Given the description of an element on the screen output the (x, y) to click on. 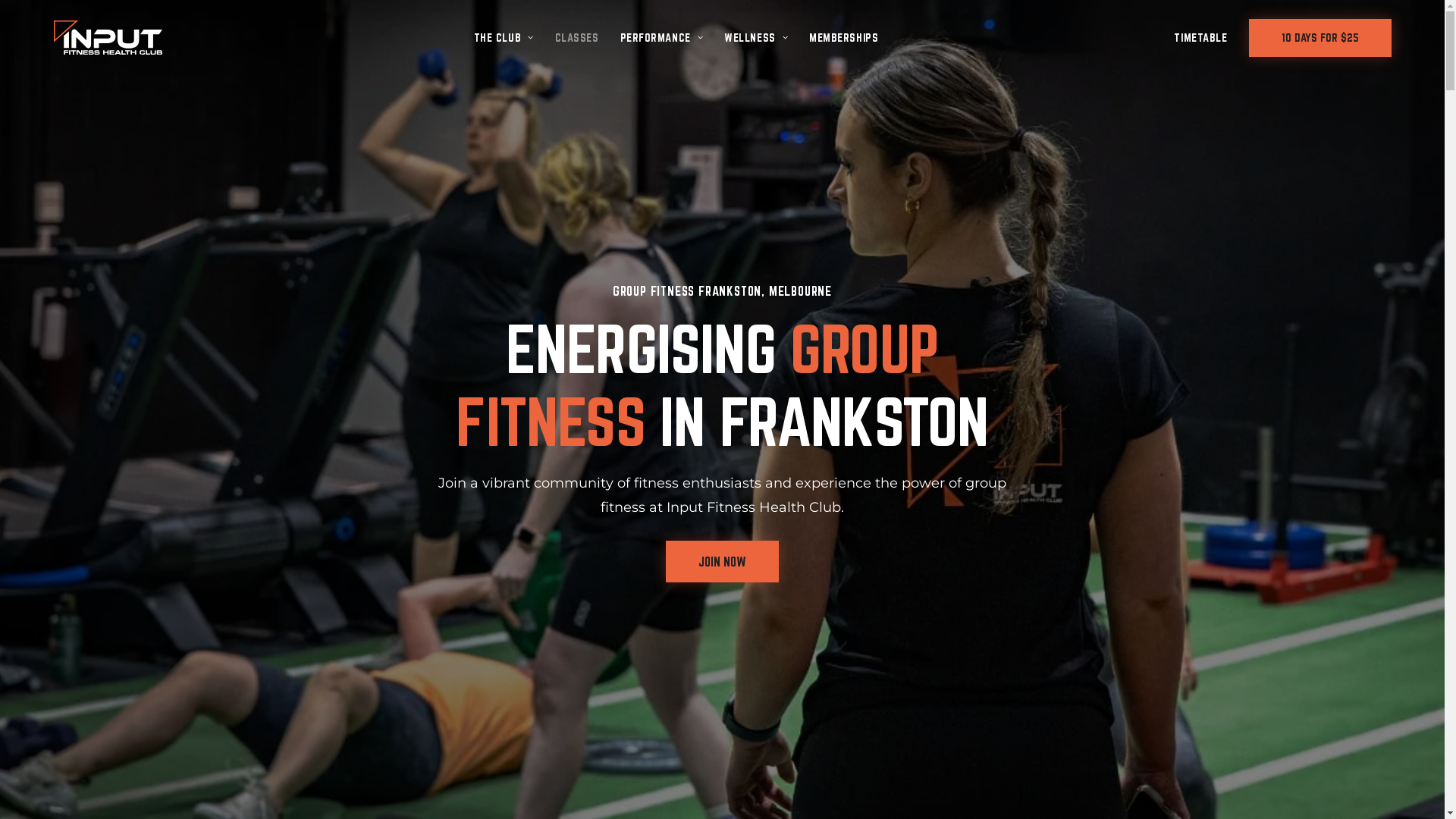
MEMBERSHIPS Element type: text (843, 37)
WELLNESS Element type: text (755, 37)
10 DAYS FOR $25 Element type: text (1313, 37)
JOIN NOW Element type: text (721, 561)
PERFORMANCE Element type: text (661, 37)
CLASSES Element type: text (576, 37)
THE CLUB Element type: text (503, 37)
TIMETABLE Element type: text (1205, 37)
